Given the description of an element on the screen output the (x, y) to click on. 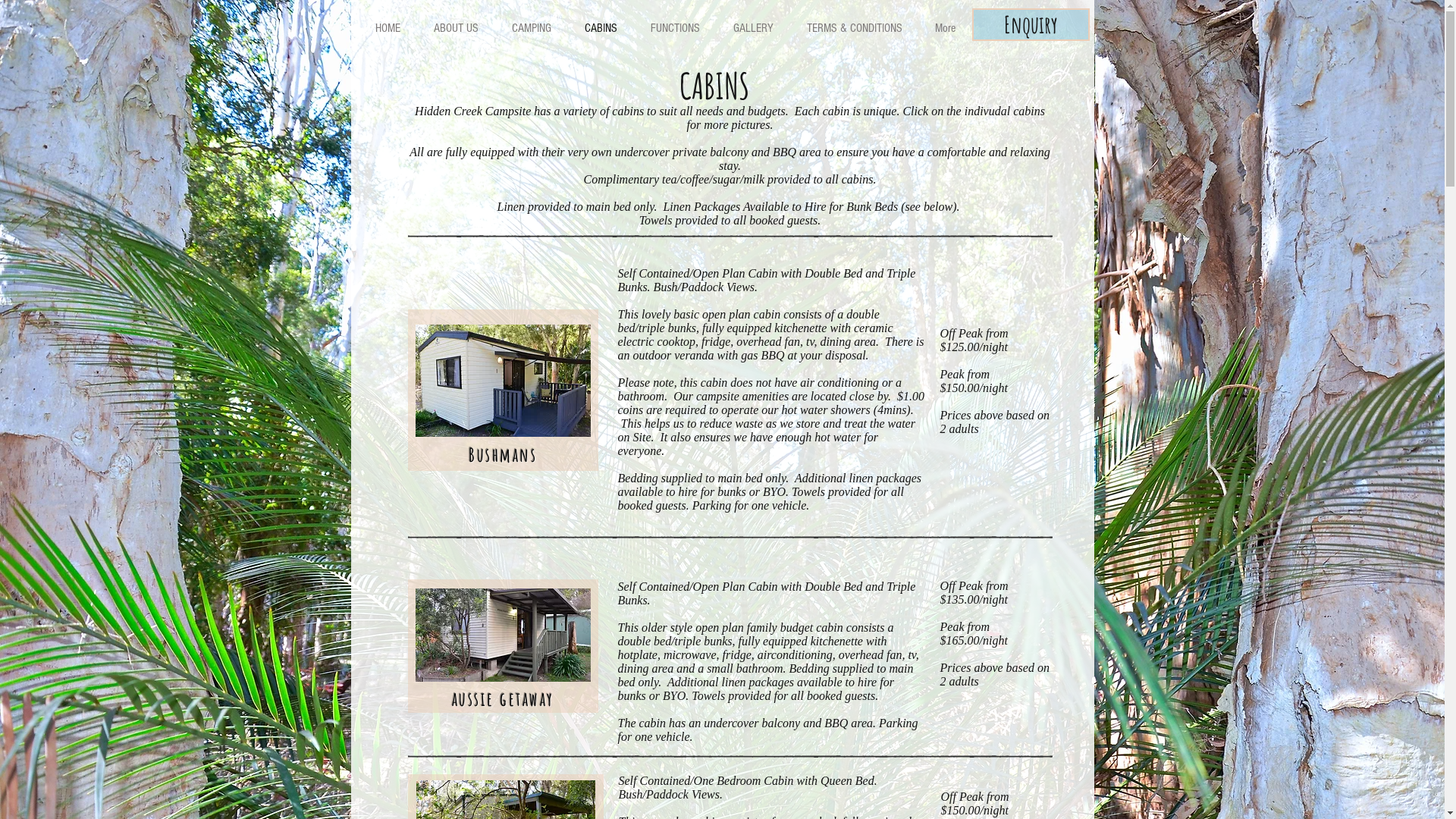
GALLERY Element type: text (752, 27)
FUNCTIONS Element type: text (674, 27)
Enquiry Element type: text (1030, 24)
CAMPING Element type: text (530, 27)
HOME Element type: text (388, 27)
CABINS Element type: text (600, 27)
ABOUT US Element type: text (456, 27)
TERMS & CONDITIONS Element type: text (854, 27)
